Given the description of an element on the screen output the (x, y) to click on. 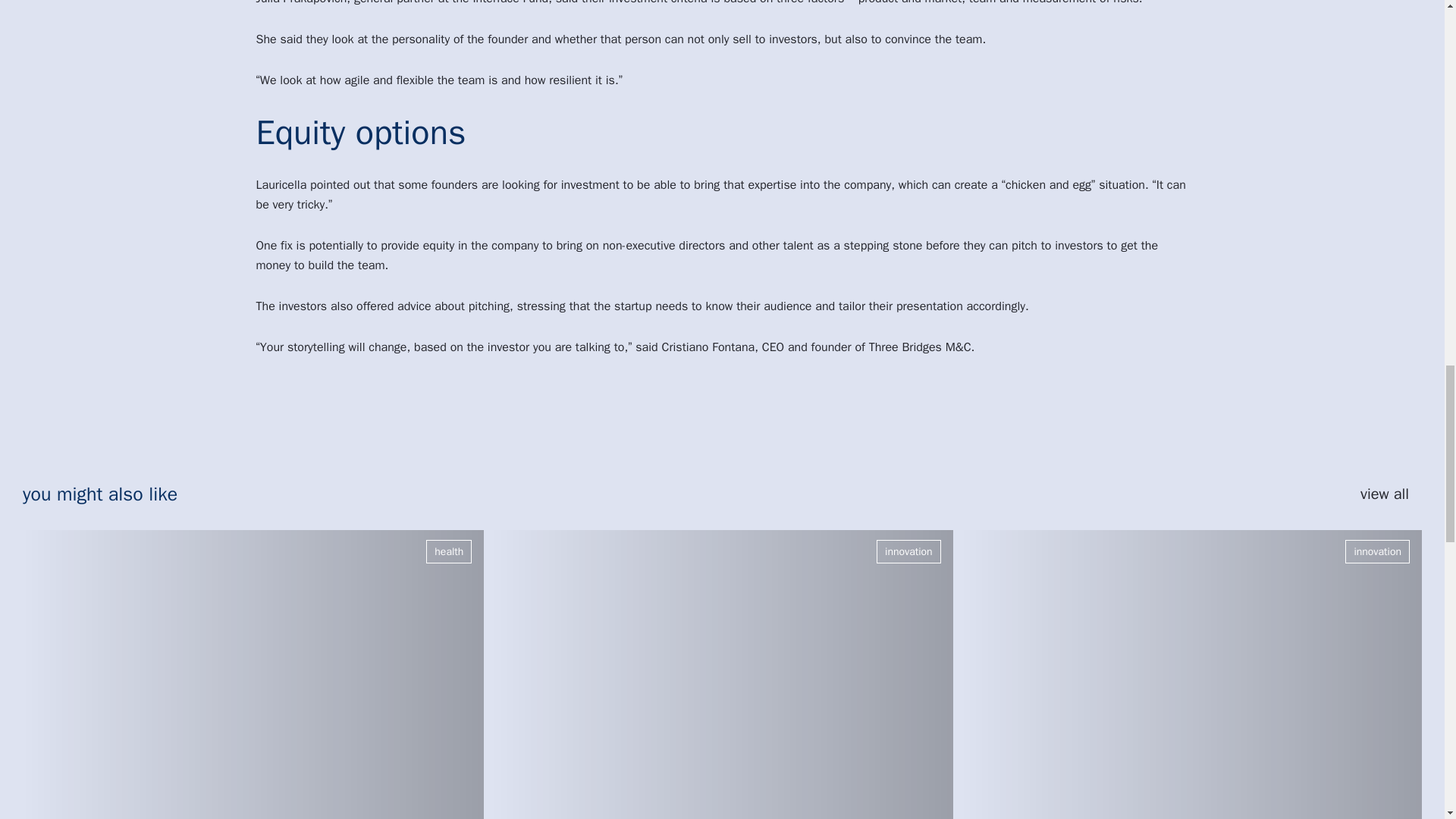
view all (1390, 494)
health (448, 551)
innovation (1377, 551)
innovation (908, 551)
